Given the description of an element on the screen output the (x, y) to click on. 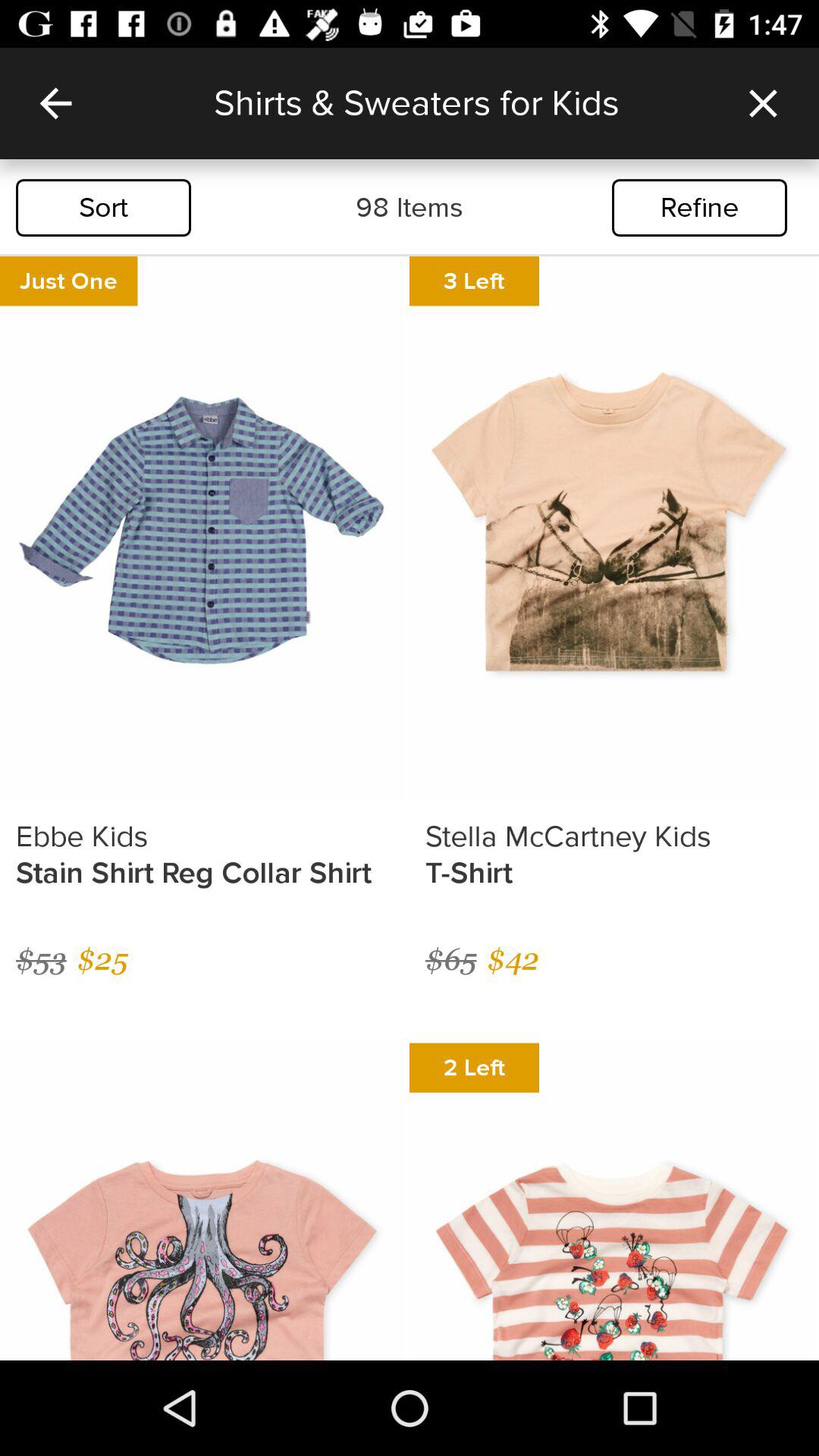
jump to the refine icon (699, 207)
